Given the description of an element on the screen output the (x, y) to click on. 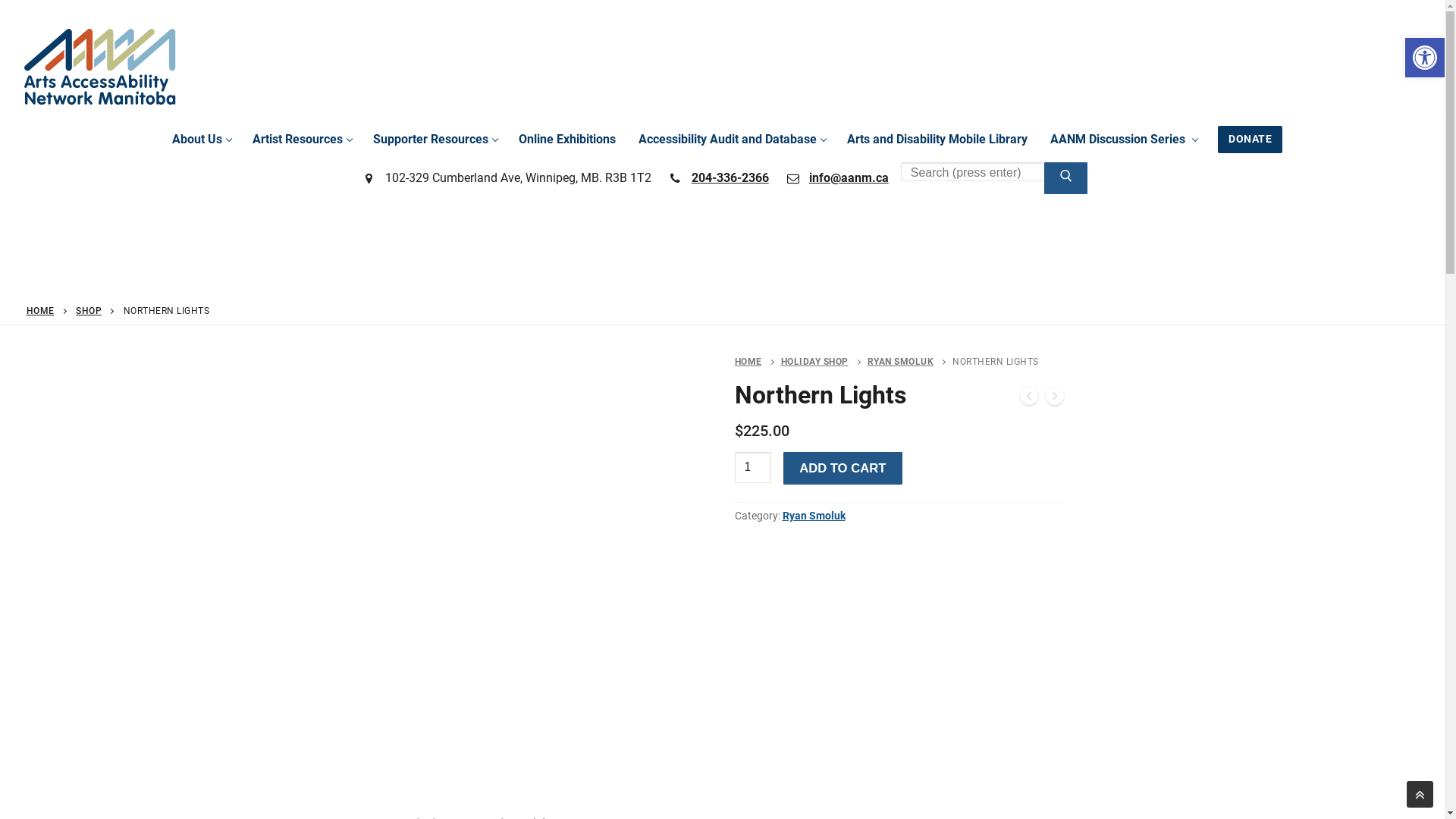
DONATE Element type: text (1249, 139)
AANM Discussion Series 
  Element type: text (1122, 139)
SHOP Element type: text (88, 310)
info@aanm.ca Element type: text (834, 178)
Artist Resources
  Element type: text (301, 139)
Open toolbar
Accessibility Tools Element type: text (1424, 57)
The Great Grey Owl Element type: hover (1028, 398)
Supporter Resources
  Element type: text (434, 139)
Accessibility Audit and Database
  Element type: text (731, 139)
ADD TO CART Element type: text (841, 467)
HOME Element type: text (757, 361)
Online Exhibitions Element type: text (566, 139)
RYAN SMOLUK Element type: text (910, 361)
Search for: Element type: hover (986, 172)
204-336-2366 Element type: text (715, 178)
Arts and Disability Mobile Library Element type: text (937, 139)
HOME Element type: text (40, 310)
About Us
  Element type: text (200, 139)
Ryan Smoluk Element type: text (813, 515)
Diving at Dusk Element type: hover (1053, 398)
HOLIDAY SHOP Element type: text (824, 361)
